Given the description of an element on the screen output the (x, y) to click on. 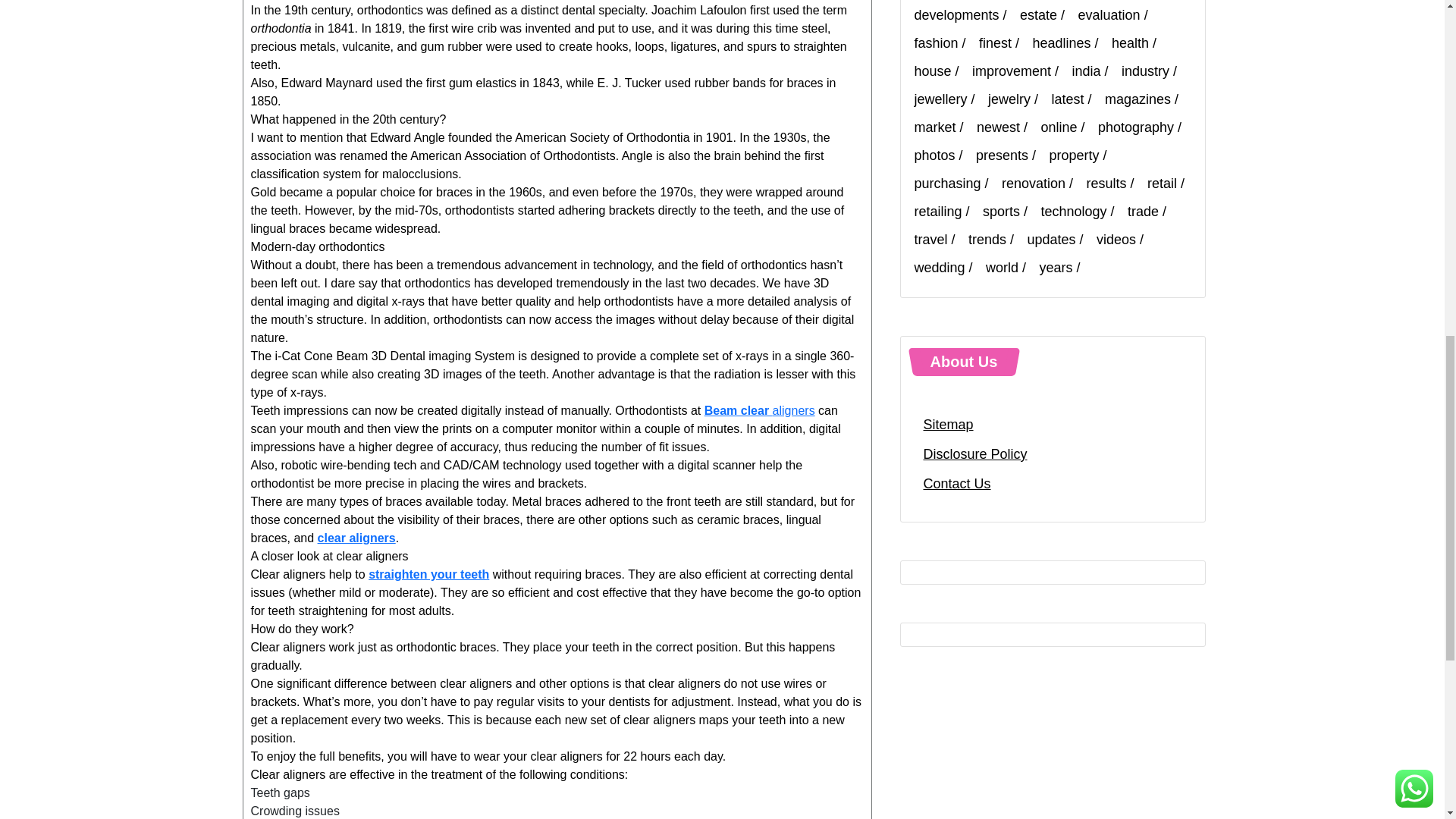
straighten your teeth (428, 574)
developments (964, 14)
clear aligners (356, 537)
Beam clear aligners (759, 410)
